Given the description of an element on the screen output the (x, y) to click on. 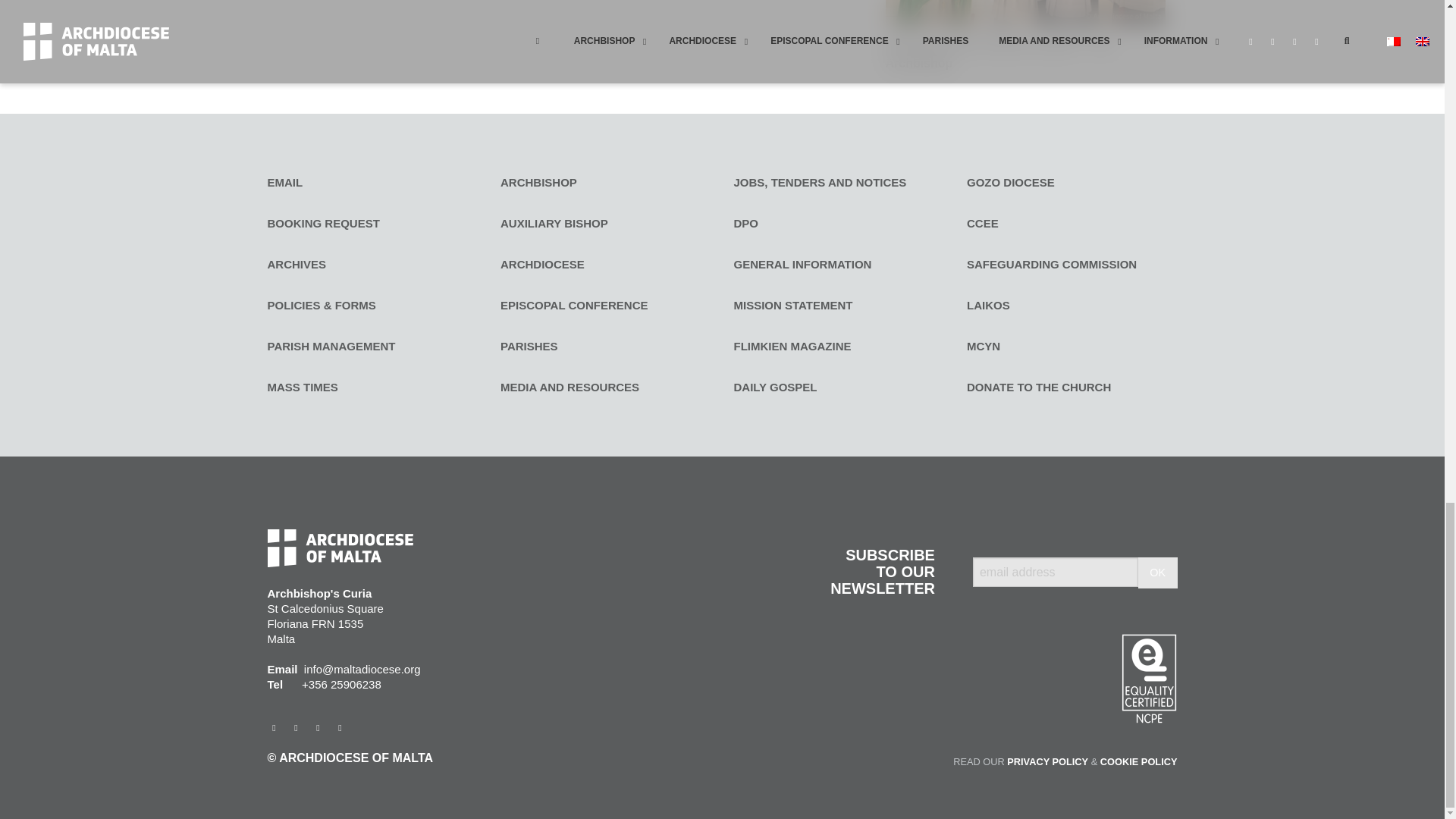
OK (1157, 572)
